Given the description of an element on the screen output the (x, y) to click on. 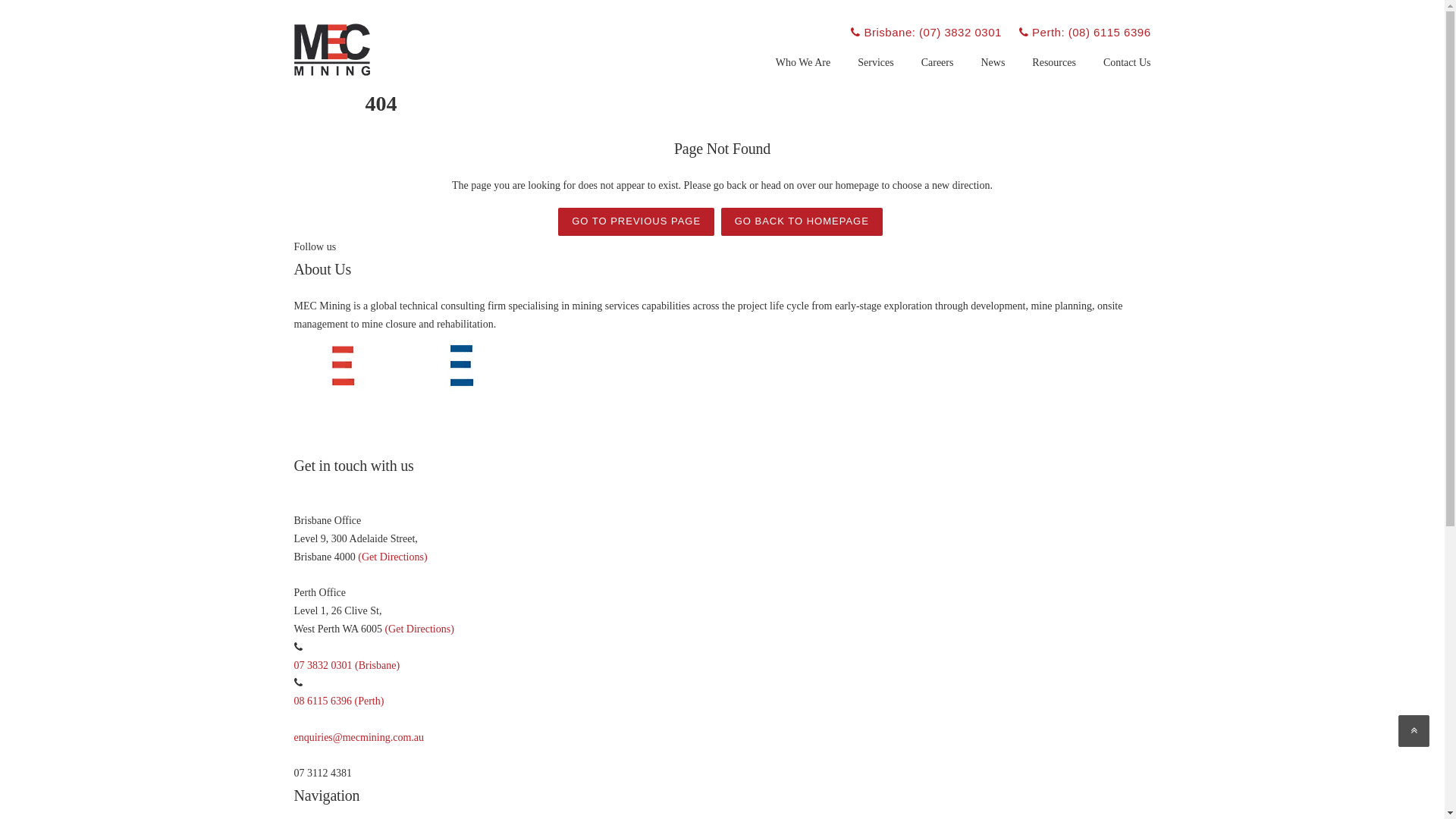
Perth: (08) 6115 6396 Element type: text (1085, 31)
Contact Us Element type: text (1120, 73)
(Get Directions) Element type: text (418, 628)
Resources Element type: text (1053, 73)
enquiries@mecmining.com.au Element type: text (359, 737)
07 3832 0301 (Brisbane) Element type: text (347, 665)
Careers Element type: text (937, 73)
GO TO PREVIOUS PAGE Element type: text (636, 221)
08 6115 6396 (Perth) Element type: text (339, 700)
GO BACK TO HOMEPAGE Element type: text (801, 221)
Brisbane: (07) 3832 0301 Element type: text (925, 31)
Services Element type: text (875, 73)
(Get Directions) Element type: text (391, 556)
News Element type: text (992, 73)
Who We Are Element type: text (803, 73)
MEC Mining Element type: hover (332, 48)
